Given the description of an element on the screen output the (x, y) to click on. 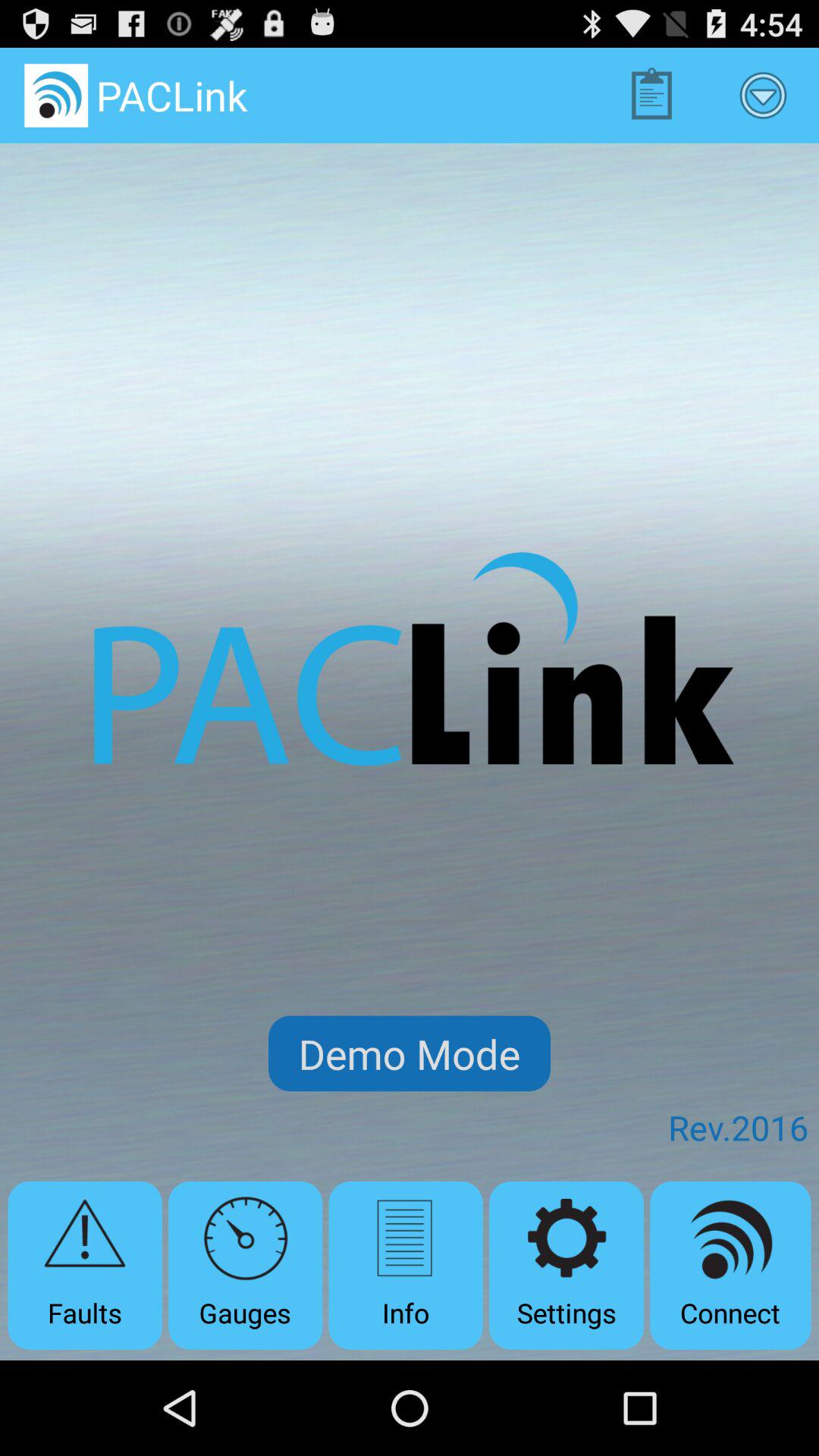
press connect icon (730, 1265)
